Given the description of an element on the screen output the (x, y) to click on. 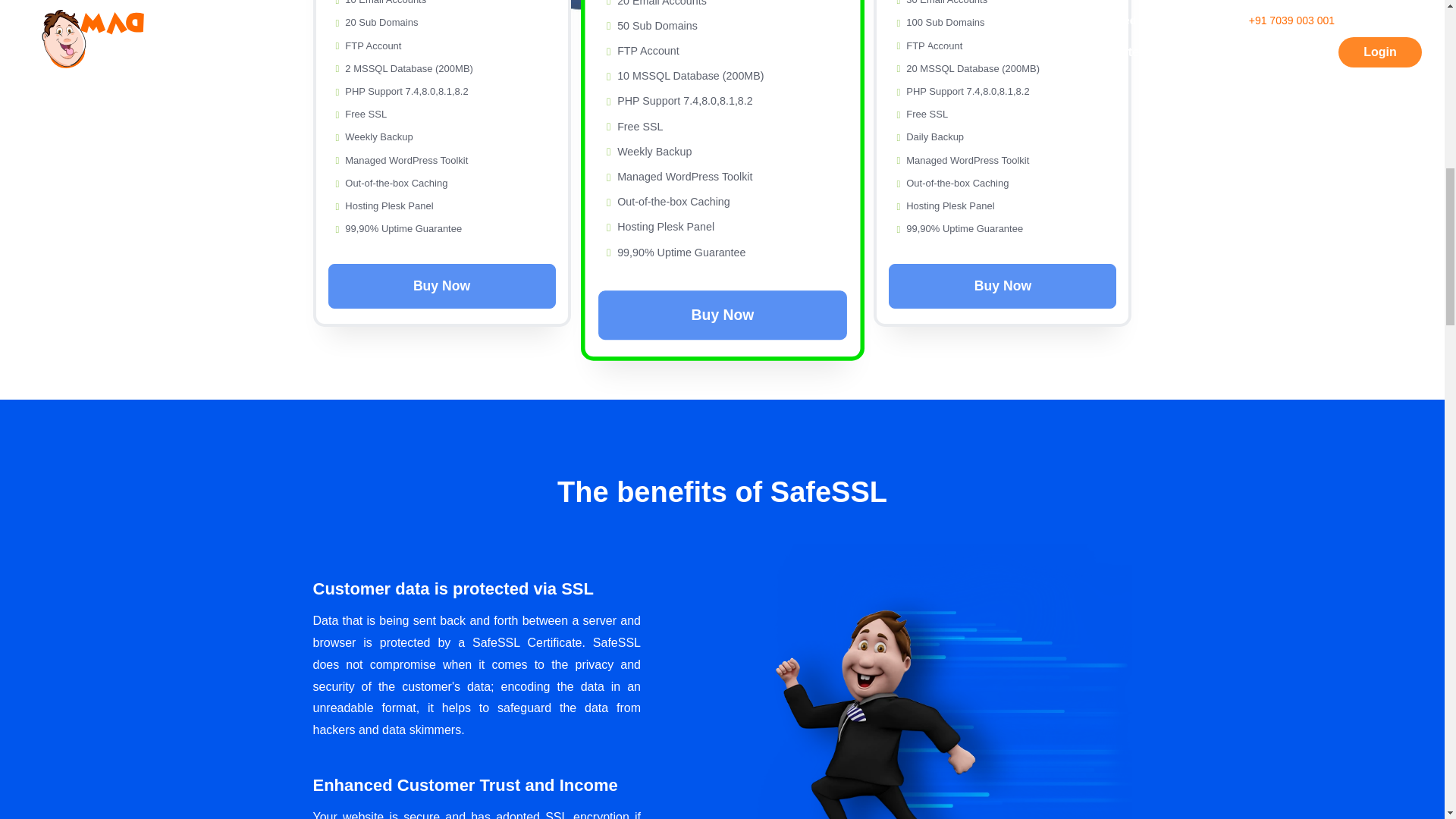
Buy Now (1002, 285)
Buy Now (711, 312)
Buy Now (442, 285)
